Given the description of an element on the screen output the (x, y) to click on. 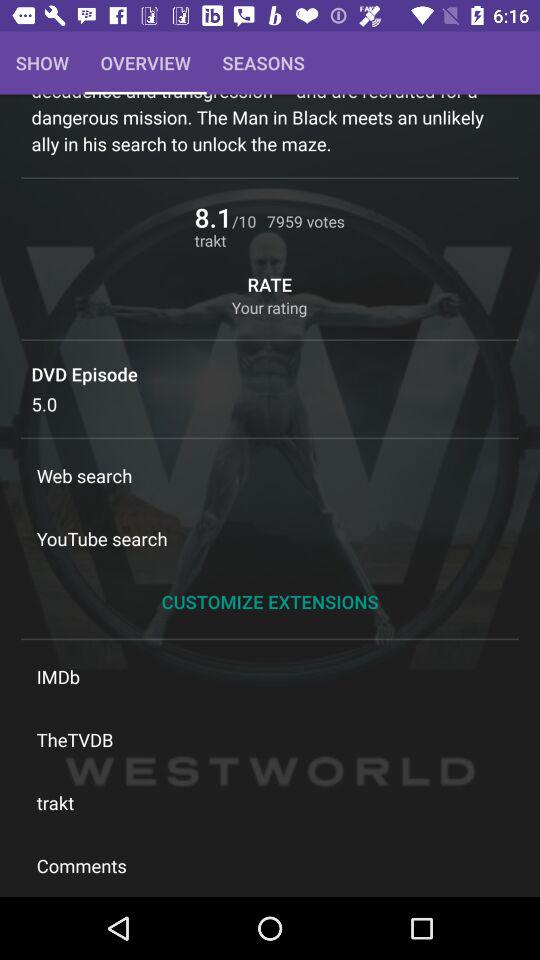
jump to customize extensions item (270, 601)
